Given the description of an element on the screen output the (x, y) to click on. 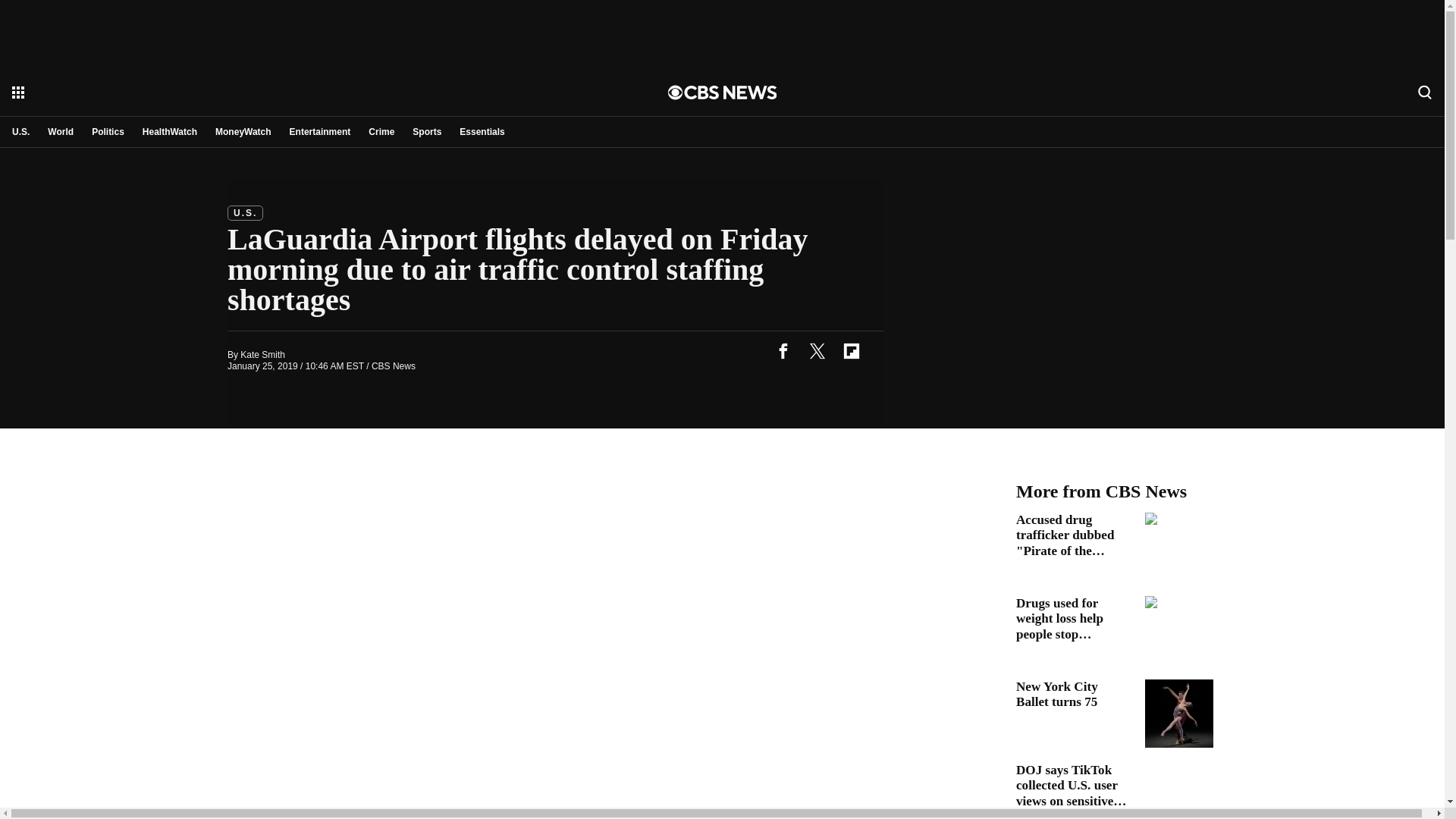
flipboard (850, 350)
twitter (816, 350)
facebook (782, 350)
